Given the description of an element on the screen output the (x, y) to click on. 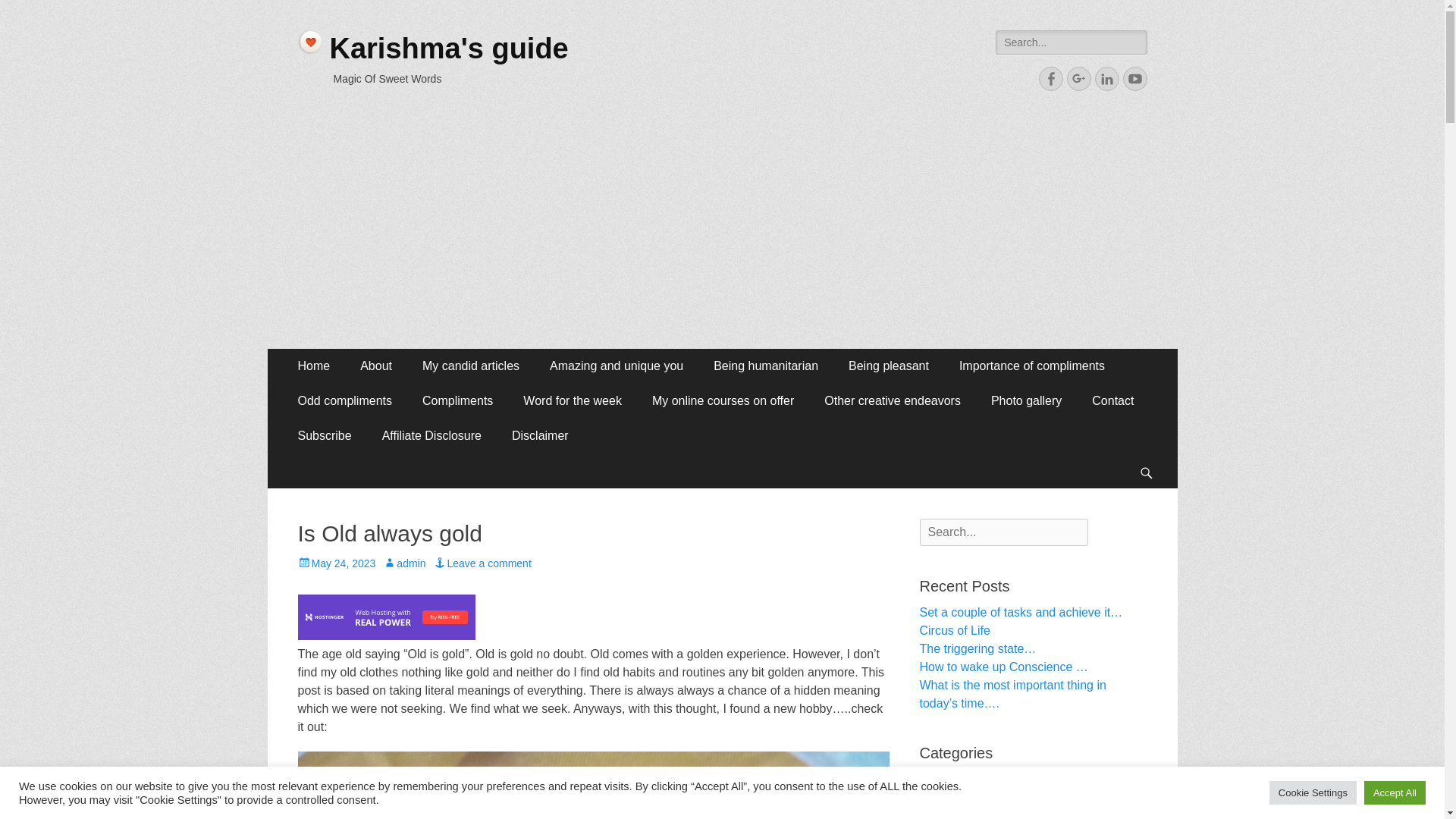
Being pleasant (887, 366)
Karishma's guide (448, 48)
Word for the week (572, 401)
admin (403, 563)
Other creative endeavors (892, 401)
Odd compliments (344, 401)
Subscribe (324, 435)
Googleplus (1077, 78)
Leave a comment (481, 563)
Googleplus (1077, 78)
Contact (1112, 401)
Search for: (1071, 42)
Affiliate Disclosure (431, 435)
